Given the description of an element on the screen output the (x, y) to click on. 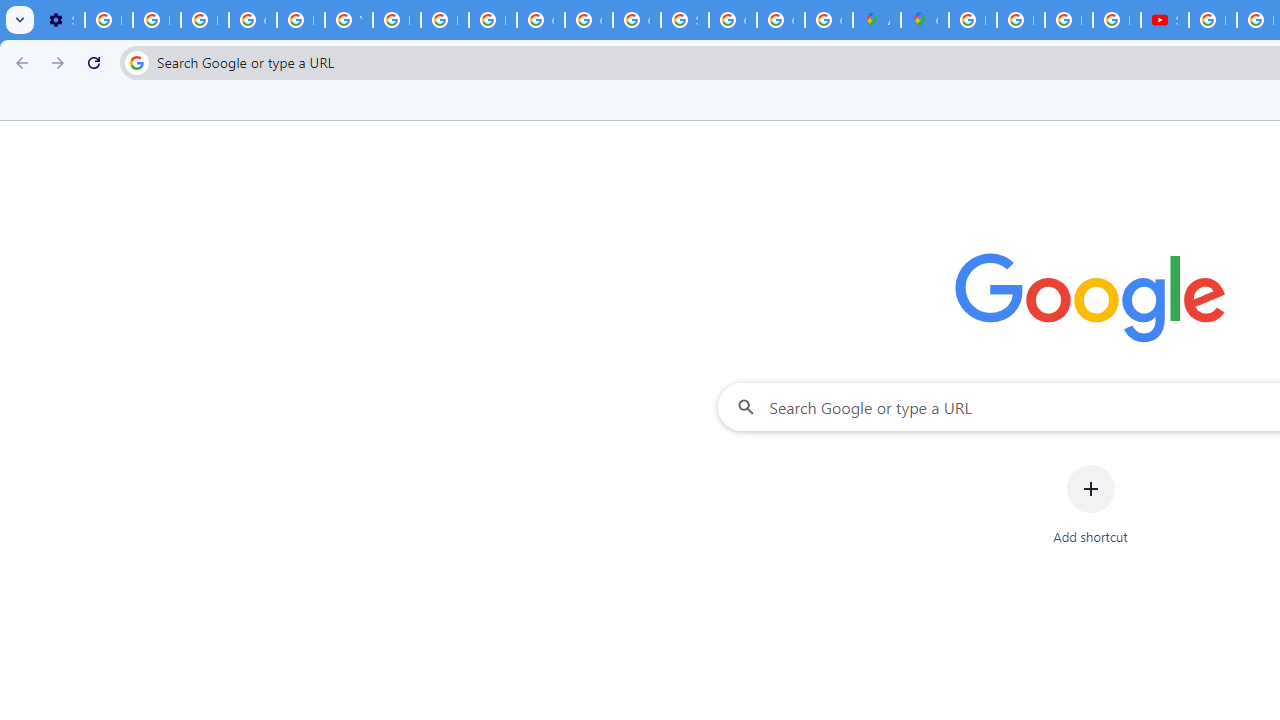
Sign in - Google Accounts (684, 20)
Privacy Help Center - Policies Help (1068, 20)
Settings - Customize profile (60, 20)
How Chrome protects your passwords - Google Chrome Help (1212, 20)
Privacy Help Center - Policies Help (1020, 20)
YouTube (348, 20)
Delete photos & videos - Computer - Google Photos Help (108, 20)
Learn how to find your photos - Google Photos Help (156, 20)
